Given the description of an element on the screen output the (x, y) to click on. 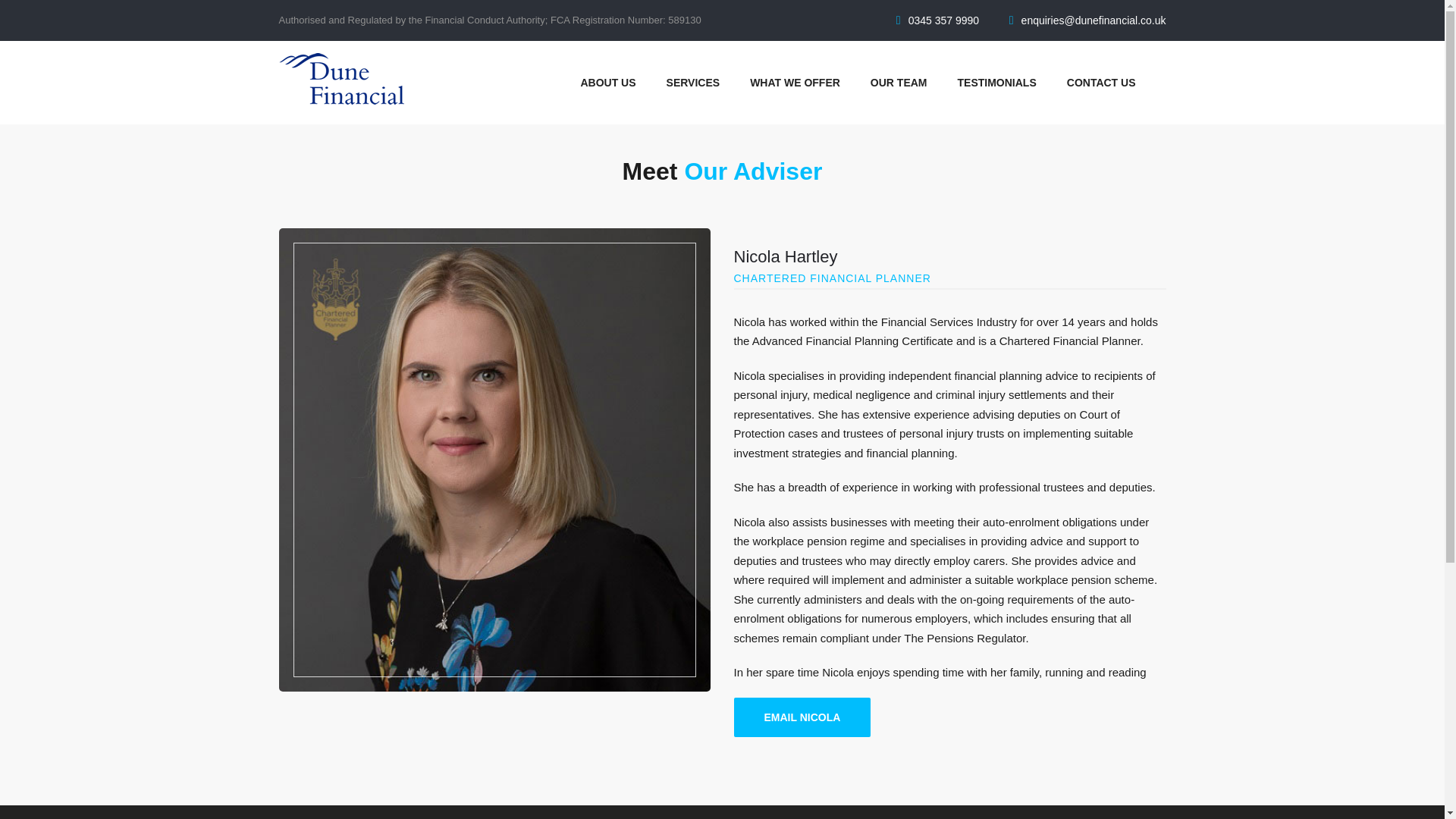
WHAT WE OFFER (794, 82)
EMAIL NICOLA (801, 717)
0345 357 9990 (943, 20)
Call us (943, 20)
What Dune Financial Offer (794, 82)
Dune Financial Planning Ltd (341, 78)
Testimonials for Dune Financial Planning (997, 82)
TESTIMONIALS (997, 82)
